Given the description of an element on the screen output the (x, y) to click on. 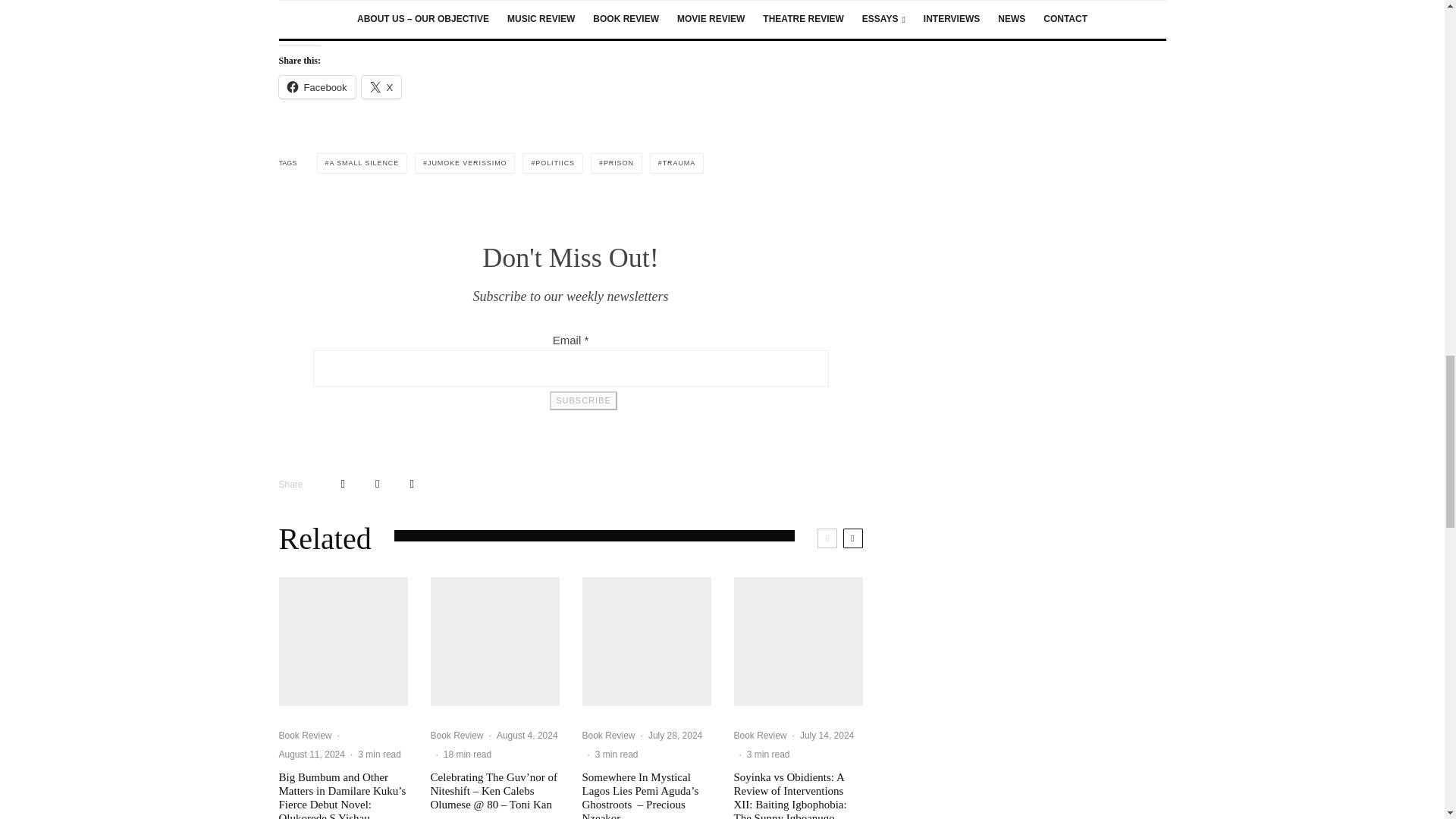
Click to share on X (381, 87)
Subscribe (582, 400)
Click to share on Facebook (317, 87)
